Given the description of an element on the screen output the (x, y) to click on. 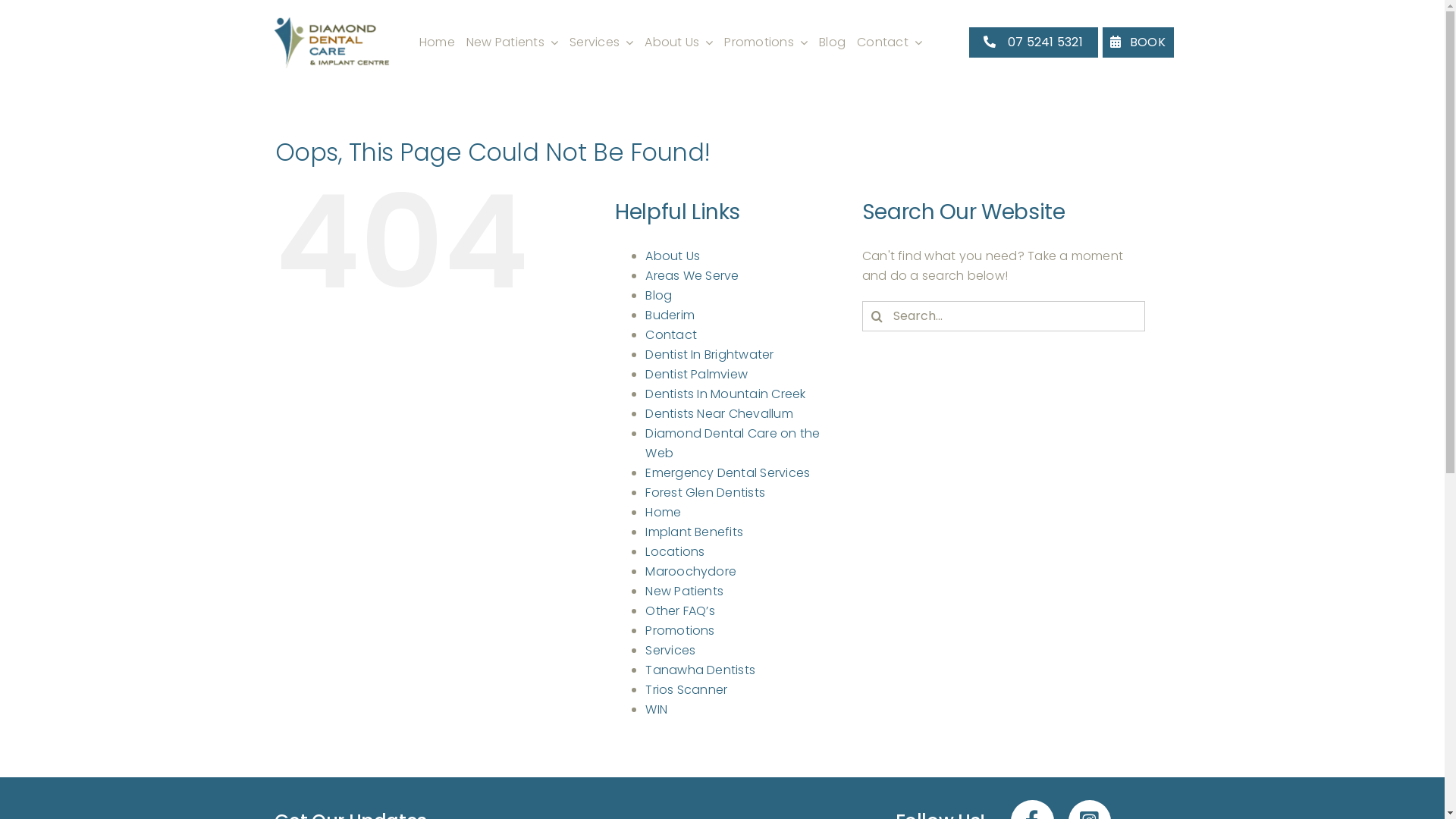
Dentists In Mountain Creek Element type: text (725, 393)
Tanawha Dentists Element type: text (700, 669)
Dentists Near Chevallum Element type: text (719, 413)
BOOK Element type: text (1137, 41)
Contact Element type: text (670, 334)
Services Element type: text (601, 42)
Contact Element type: text (889, 42)
Emergency Dental Services Element type: text (727, 472)
Promotions Element type: text (765, 42)
About Us Element type: text (672, 255)
Dentist Palmview Element type: text (696, 373)
Implant Benefits Element type: text (694, 531)
Maroochydore Element type: text (690, 571)
Diamond Dental Care on the Web Element type: text (732, 442)
Areas We Serve Element type: text (691, 275)
07 5241 5321 Element type: text (1033, 41)
About Us Element type: text (678, 42)
Services Element type: text (670, 649)
New Patients Element type: text (512, 42)
WIN Element type: text (656, 709)
Trios Scanner Element type: text (686, 689)
Dentist In Brightwater Element type: text (709, 354)
Home Element type: text (662, 511)
Blog Element type: text (658, 295)
Buderim Element type: text (669, 314)
Locations Element type: text (674, 551)
Forest Glen Dentists Element type: text (705, 492)
Promotions Element type: text (679, 630)
New Patients Element type: text (684, 590)
Home Element type: text (437, 42)
Blog Element type: text (832, 42)
